Given the description of an element on the screen output the (x, y) to click on. 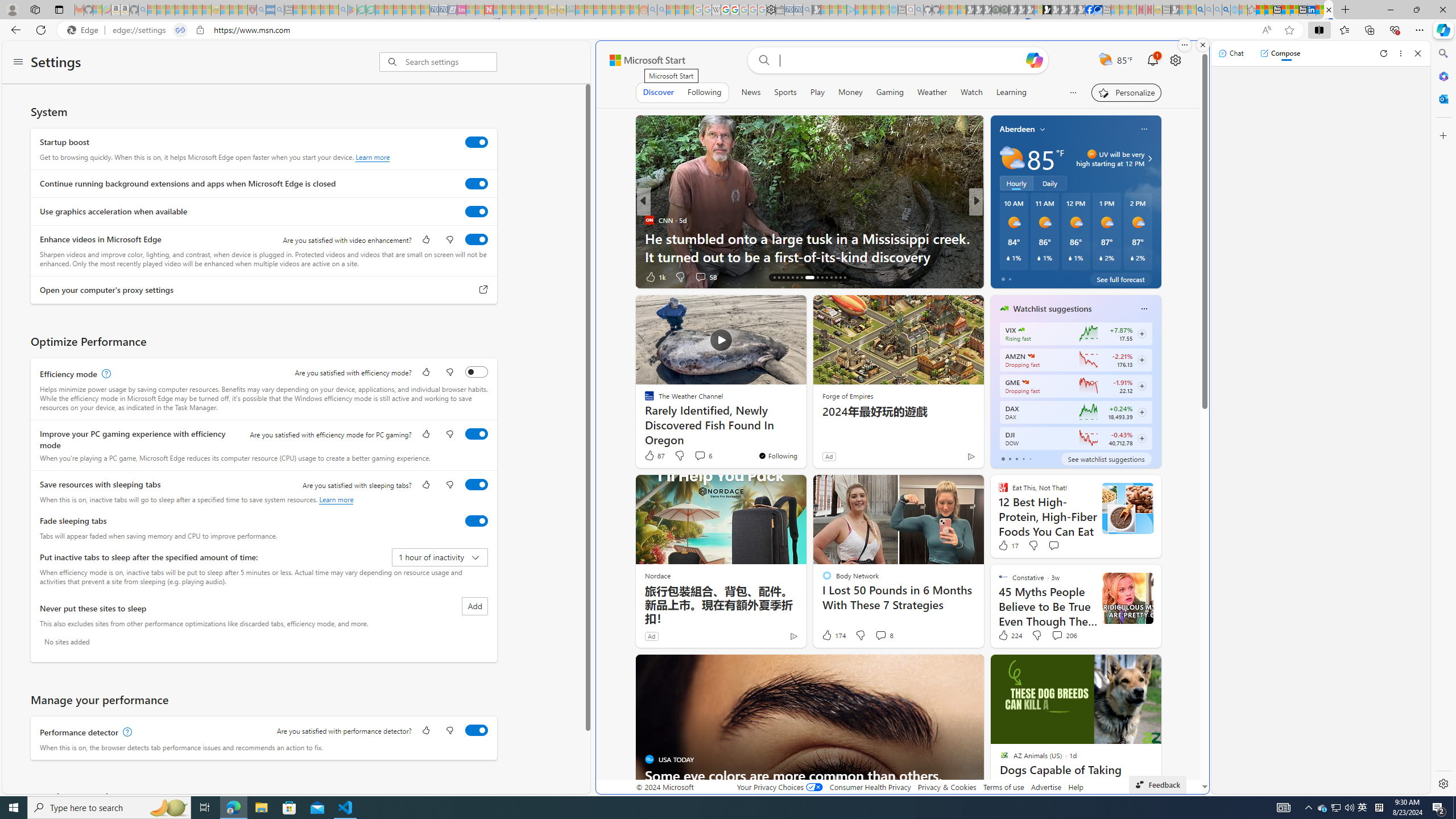
Gaming (890, 92)
Enhance videos in Microsoft Edge (476, 238)
See full forecast (1120, 278)
View comments 206 Comment (1056, 635)
Class: follow-button  m (1142, 438)
previous (996, 381)
Like (1000, 276)
Partly sunny (1011, 158)
